Given the description of an element on the screen output the (x, y) to click on. 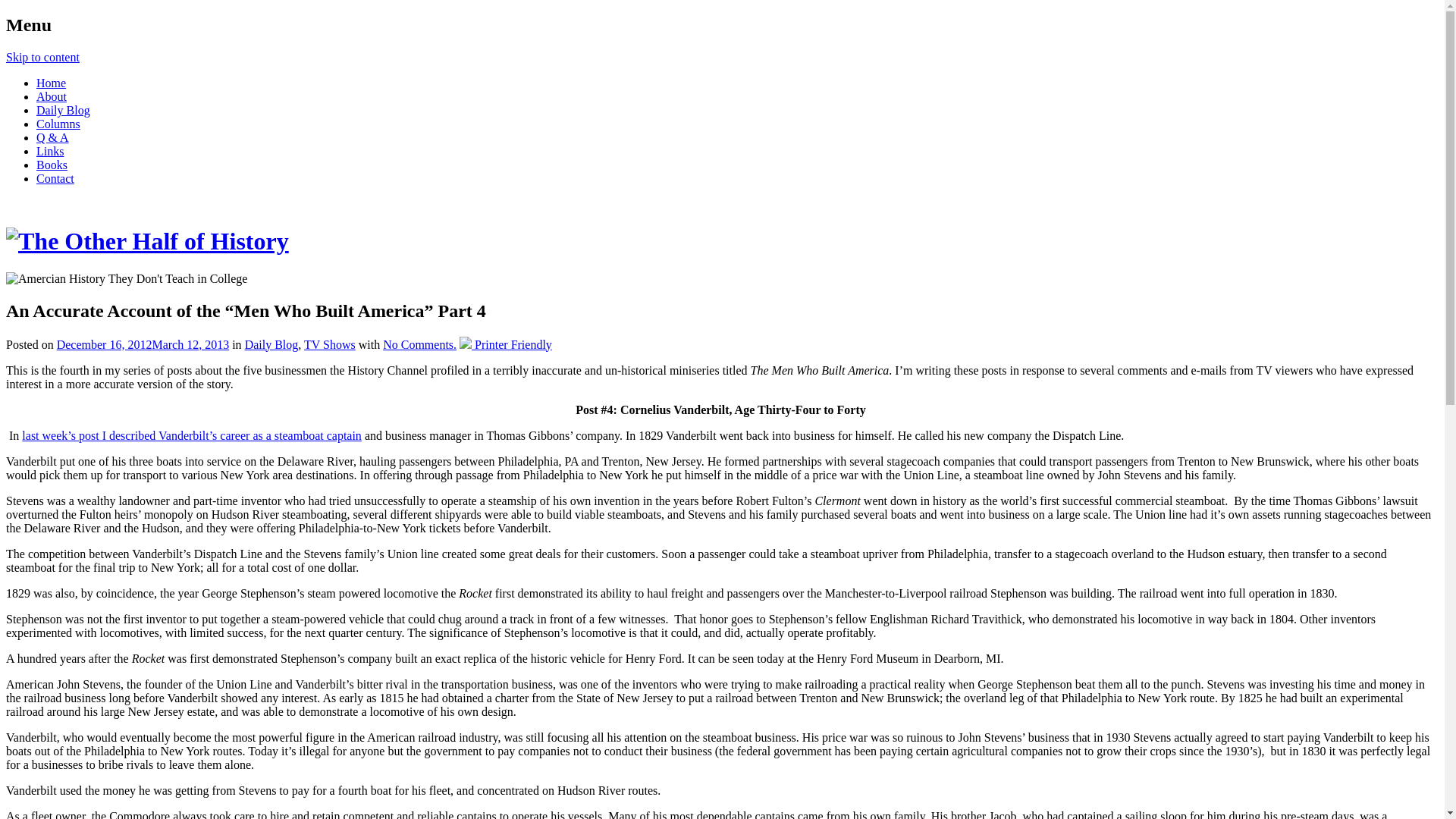
December 16, 2012March 12, 2013 (143, 344)
Home (50, 82)
Vanderbilt working for Gibbons (191, 435)
Books (51, 164)
The Other Half of History (146, 240)
Printer Friendly (505, 344)
Daily Blog (271, 344)
Printer Friendly (505, 344)
TV Shows (329, 344)
Daily Blog (63, 110)
No Comments. (419, 344)
Links (50, 151)
Contact (55, 178)
Skip to content (42, 56)
Columns (58, 123)
